Given the description of an element on the screen output the (x, y) to click on. 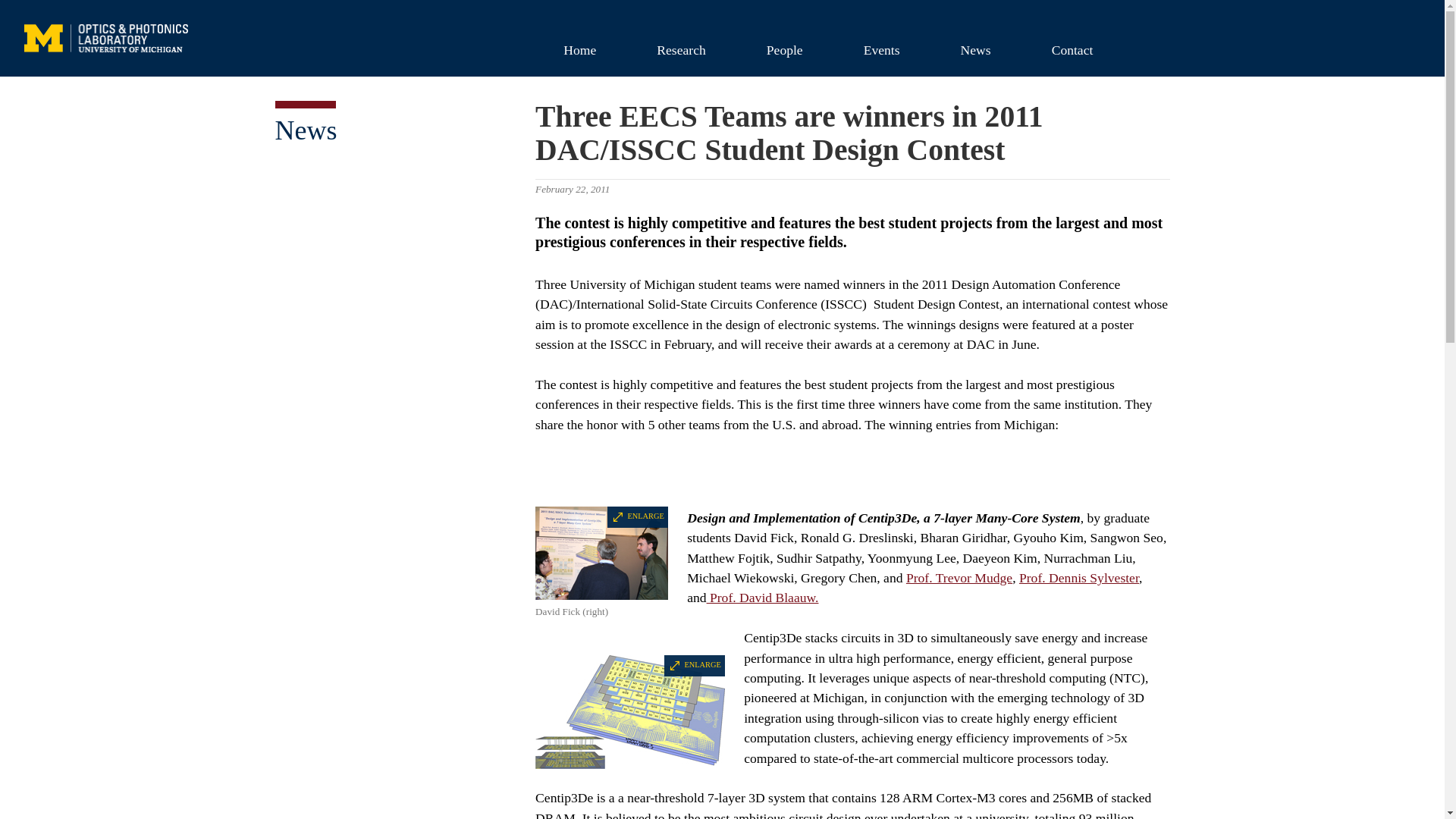
Contact (1072, 49)
Home (579, 49)
Prof. Dennis Sylvester (1078, 577)
News (305, 130)
Research (681, 49)
News (976, 49)
People (784, 49)
Prof. Trevor Mudge (958, 577)
Events (881, 49)
 Prof. David Blaauw. (762, 597)
